Given the description of an element on the screen output the (x, y) to click on. 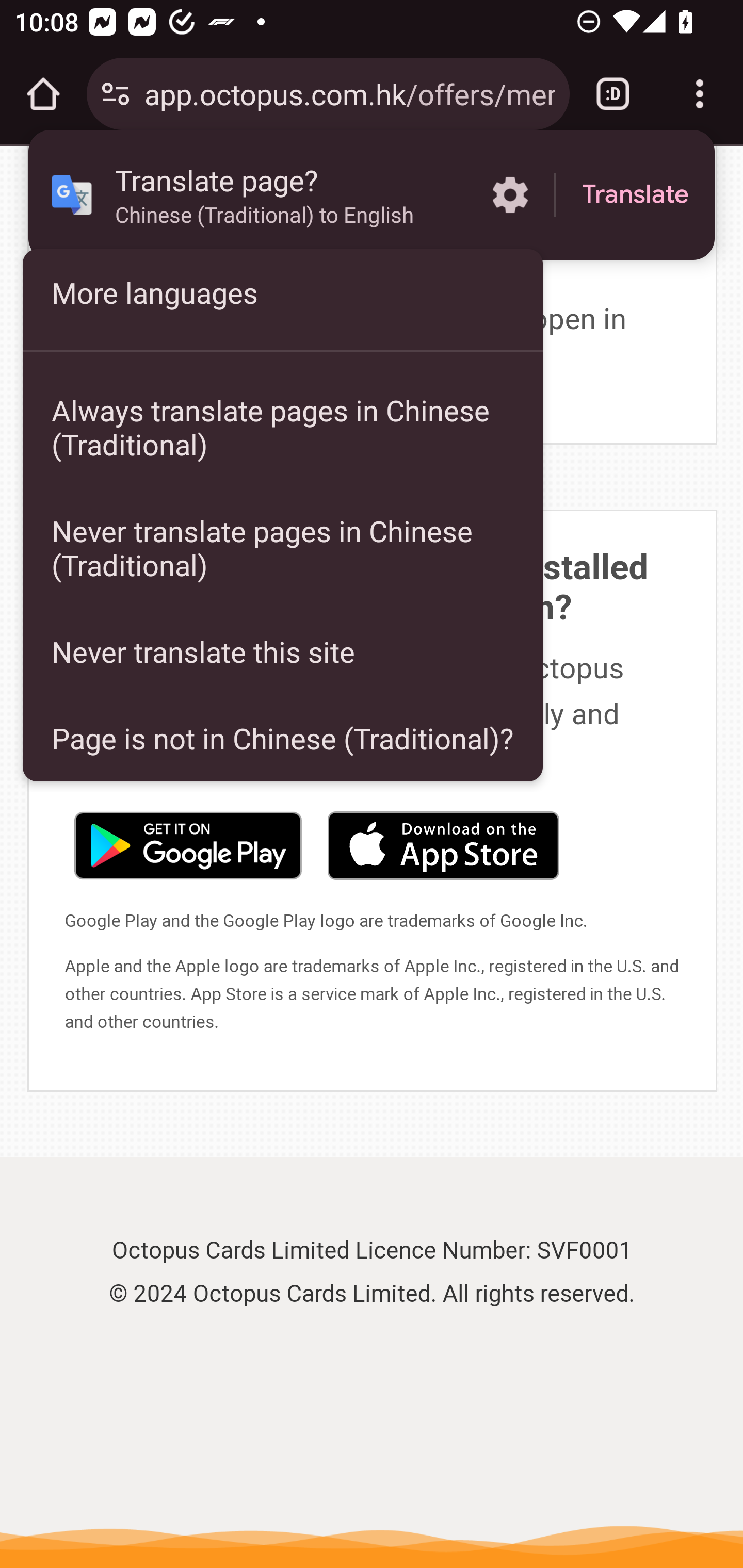
More languages (283, 292)
Always translate pages in Chinese (Traditional) (283, 426)
Never translate pages in Chinese (Traditional) (283, 547)
Never translate this site (283, 651)
Page is not in Chinese (Traditional)? (283, 737)
